Given the description of an element on the screen output the (x, y) to click on. 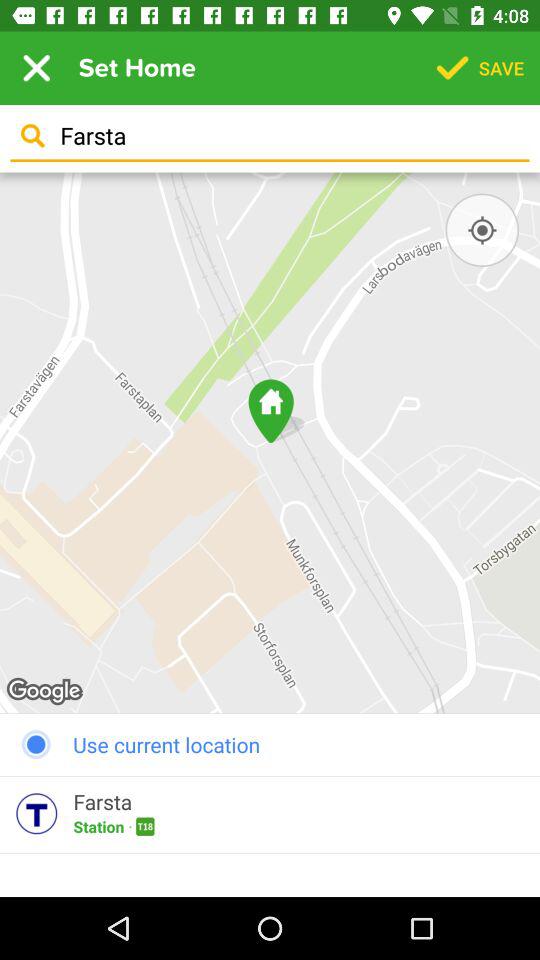
find location button (482, 230)
